Given the description of an element on the screen output the (x, y) to click on. 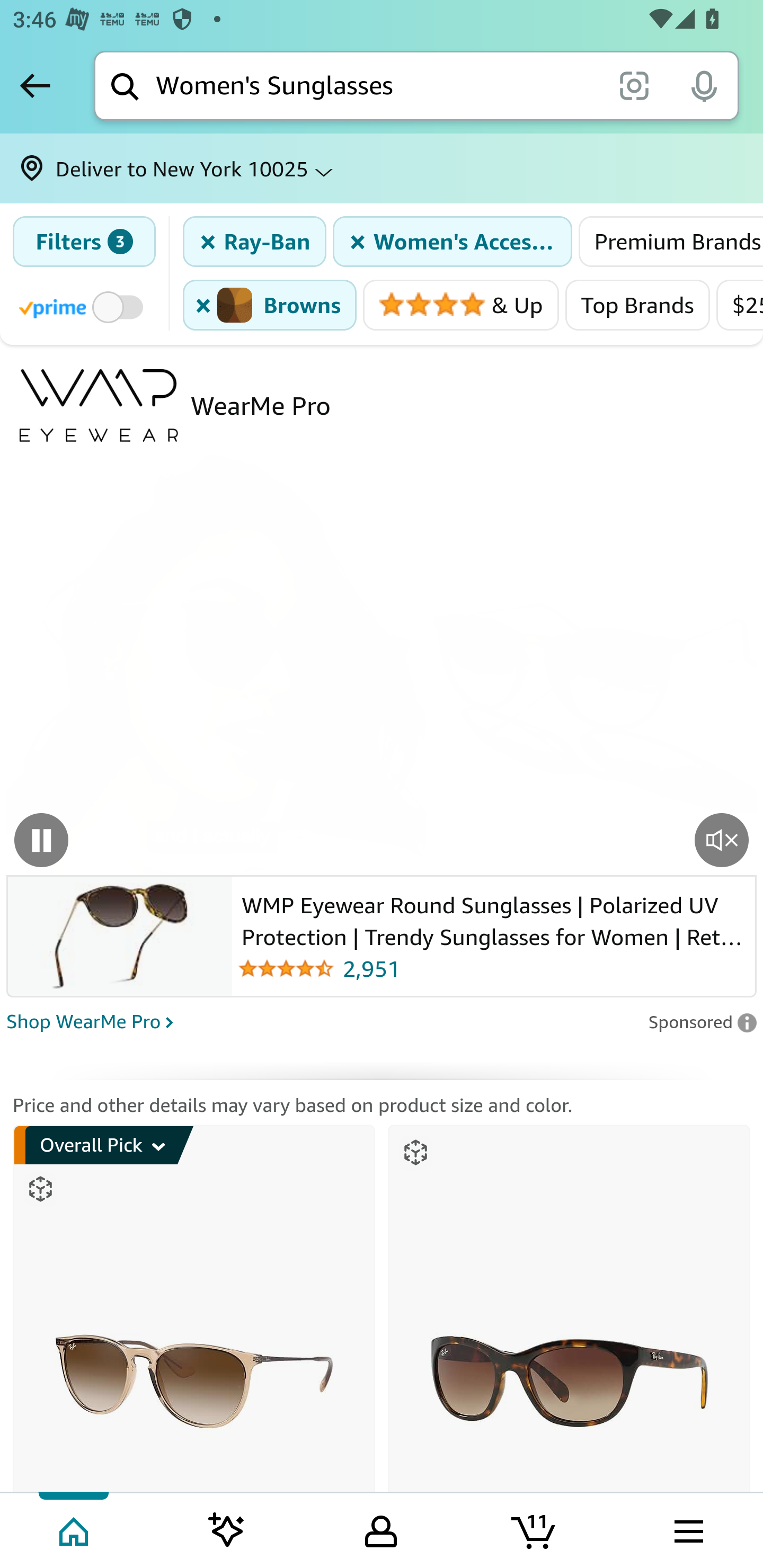
Back (35, 85)
scan it (633, 85)
Deliver to New York 10025 ⌵ (381, 168)
Filters 3 (83, 241)
× Ray-Ban × Ray-Ban (255, 241)
× Women's Accessories × Women's Accessories (451, 241)
Premium Brands (669, 241)
Toggle to filter by Prime products Prime Eligible (83, 306)
Toggle to filter by Prime products Prime Eligible (81, 306)
× Browns Browns × Browns Browns (270, 304)
4 Stars & Up (460, 304)
Top Brands (637, 304)
WearMe Pro (260, 404)
Mute Sponsored Video (721, 839)
